Given the description of an element on the screen output the (x, y) to click on. 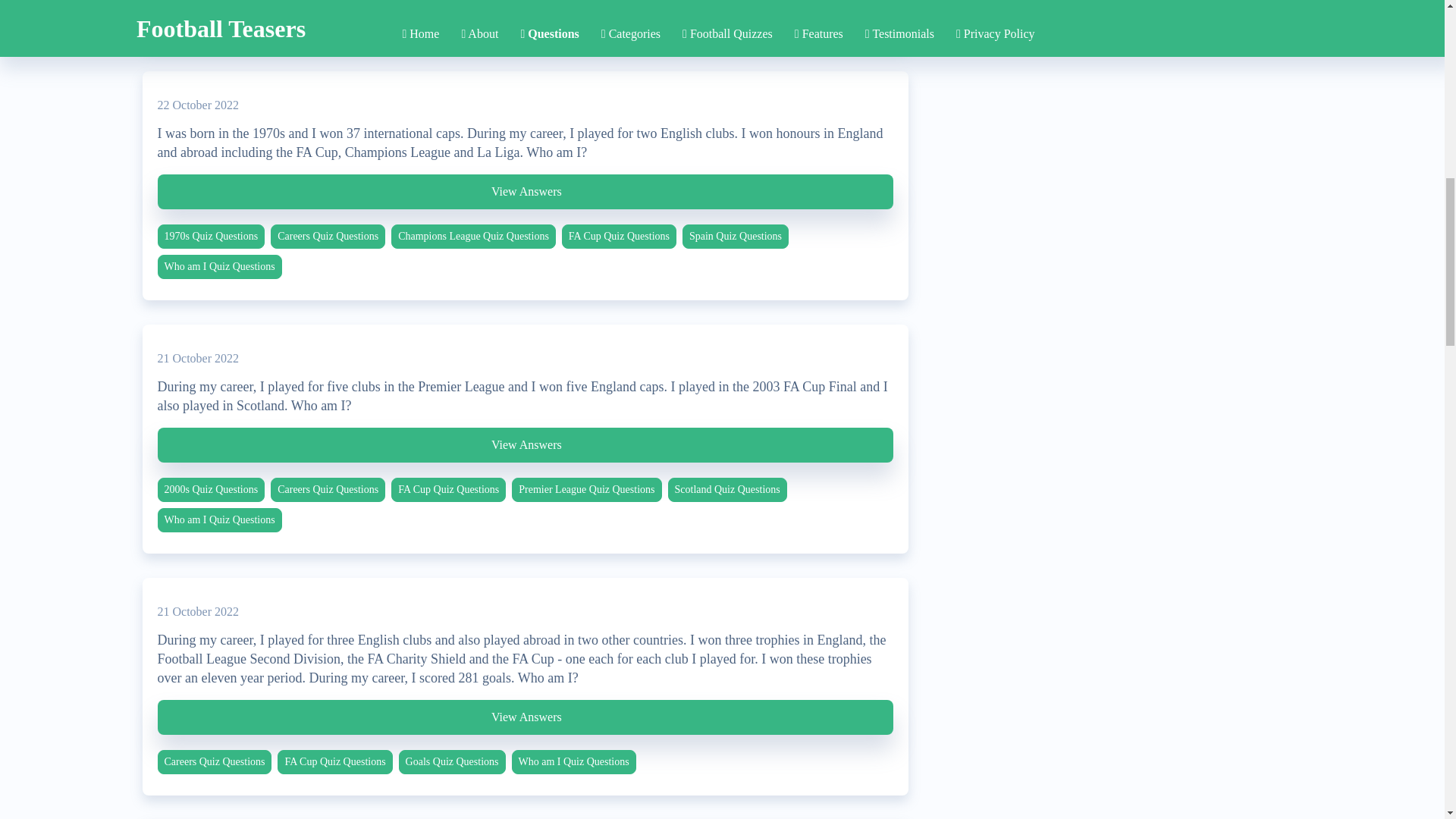
Careers Quiz Questions (327, 236)
1970s Quiz Questions (210, 236)
FA Cup Quiz Questions (441, 13)
1990s Quiz Questions (324, 13)
1980s Quiz Questions (210, 13)
